Given the description of an element on the screen output the (x, y) to click on. 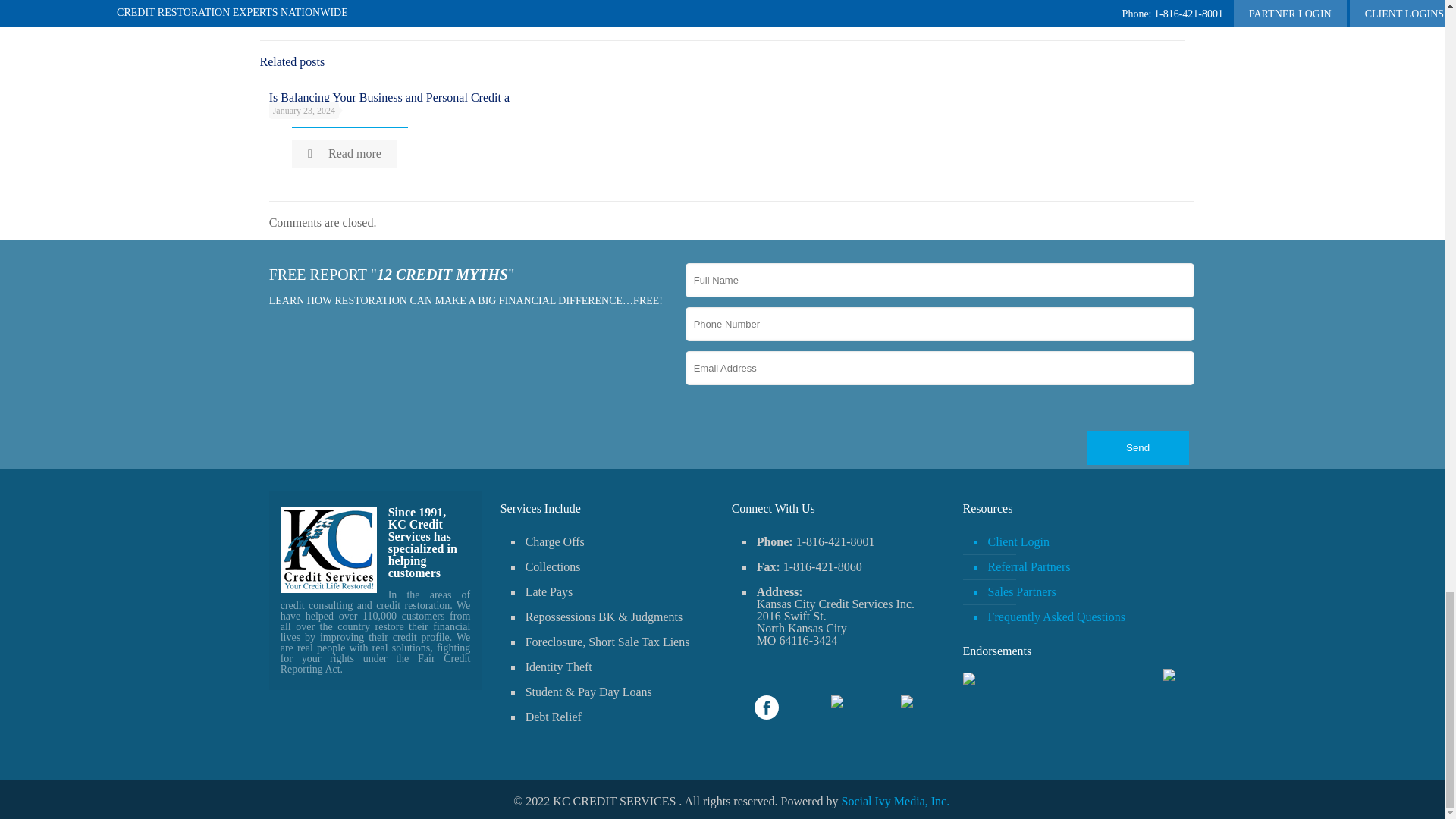
Frequently Asked Questions (1077, 617)
Read more (344, 153)
Send (1138, 447)
Referral Partners (1077, 567)
Client Login (1077, 542)
Sales Partners (1077, 592)
Send (1138, 447)
Is Balancing Your Business and Personal Credit a Challenge? (389, 103)
Social Ivy Media, Inc. (895, 800)
